Given the description of an element on the screen output the (x, y) to click on. 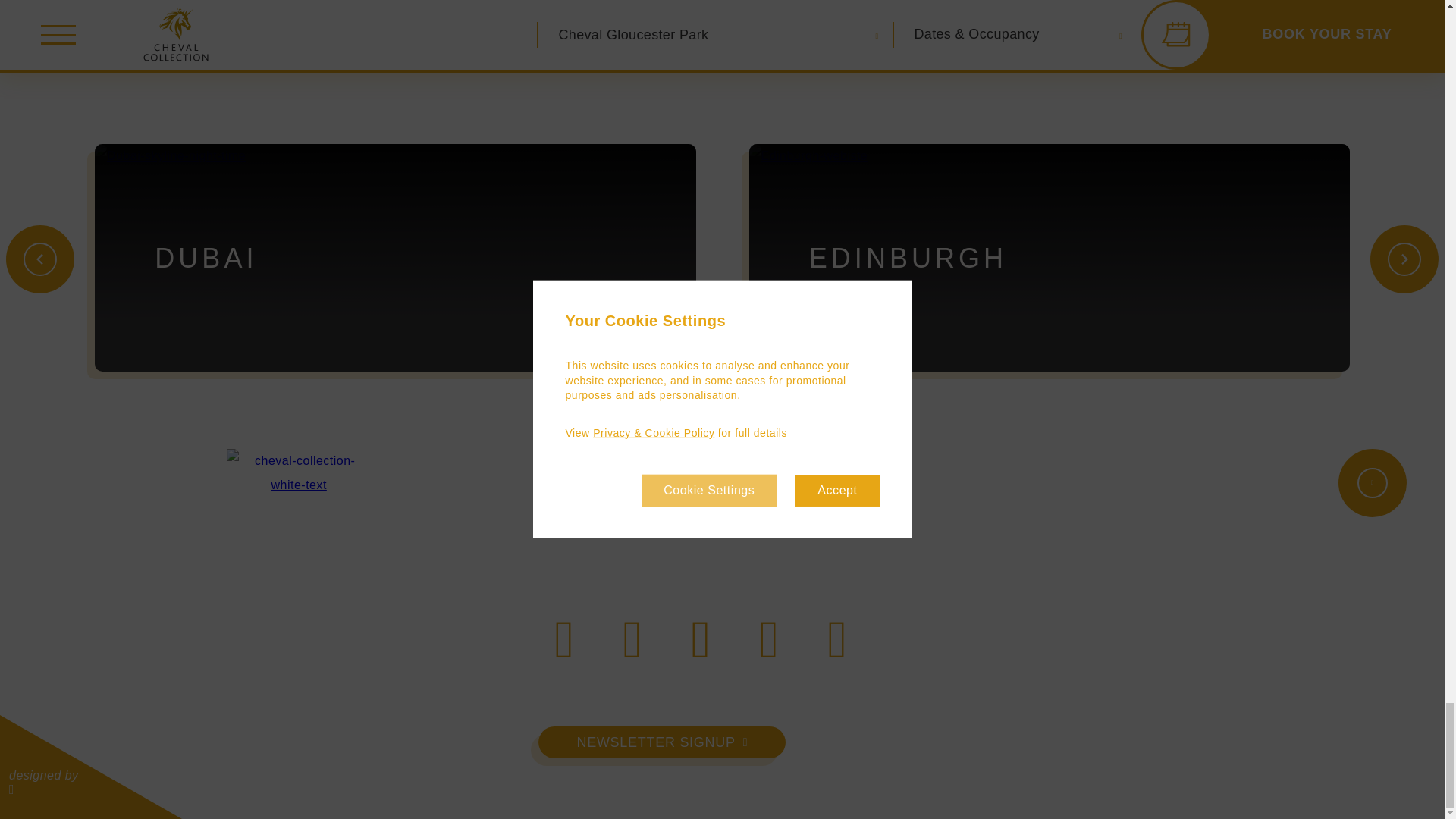
Contact Avvio (43, 782)
youtube (769, 638)
tiktok (633, 638)
linkedin (701, 638)
facebook (837, 638)
instagram (564, 638)
